Given the description of an element on the screen output the (x, y) to click on. 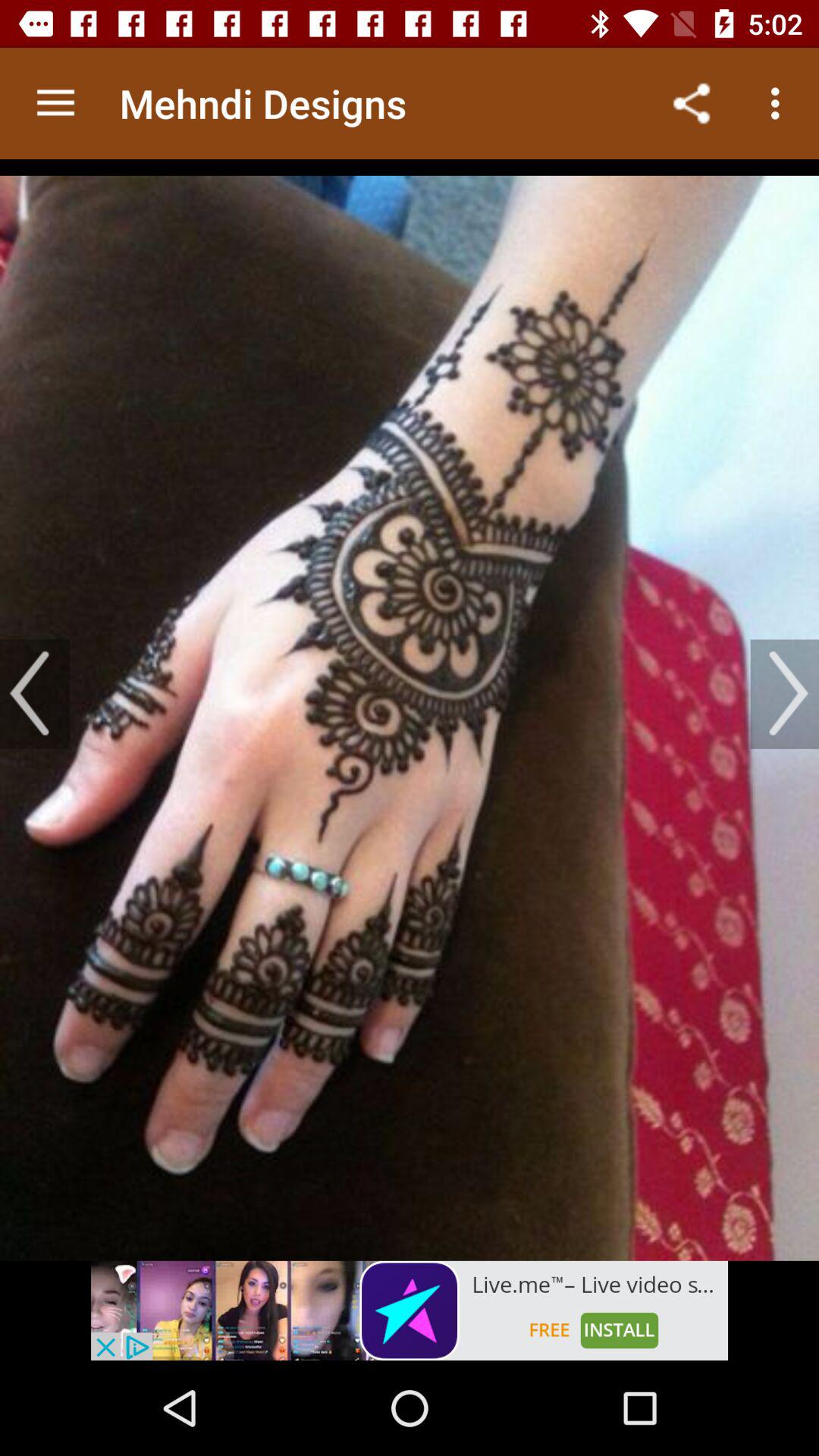
view gallery (409, 709)
